Given the description of an element on the screen output the (x, y) to click on. 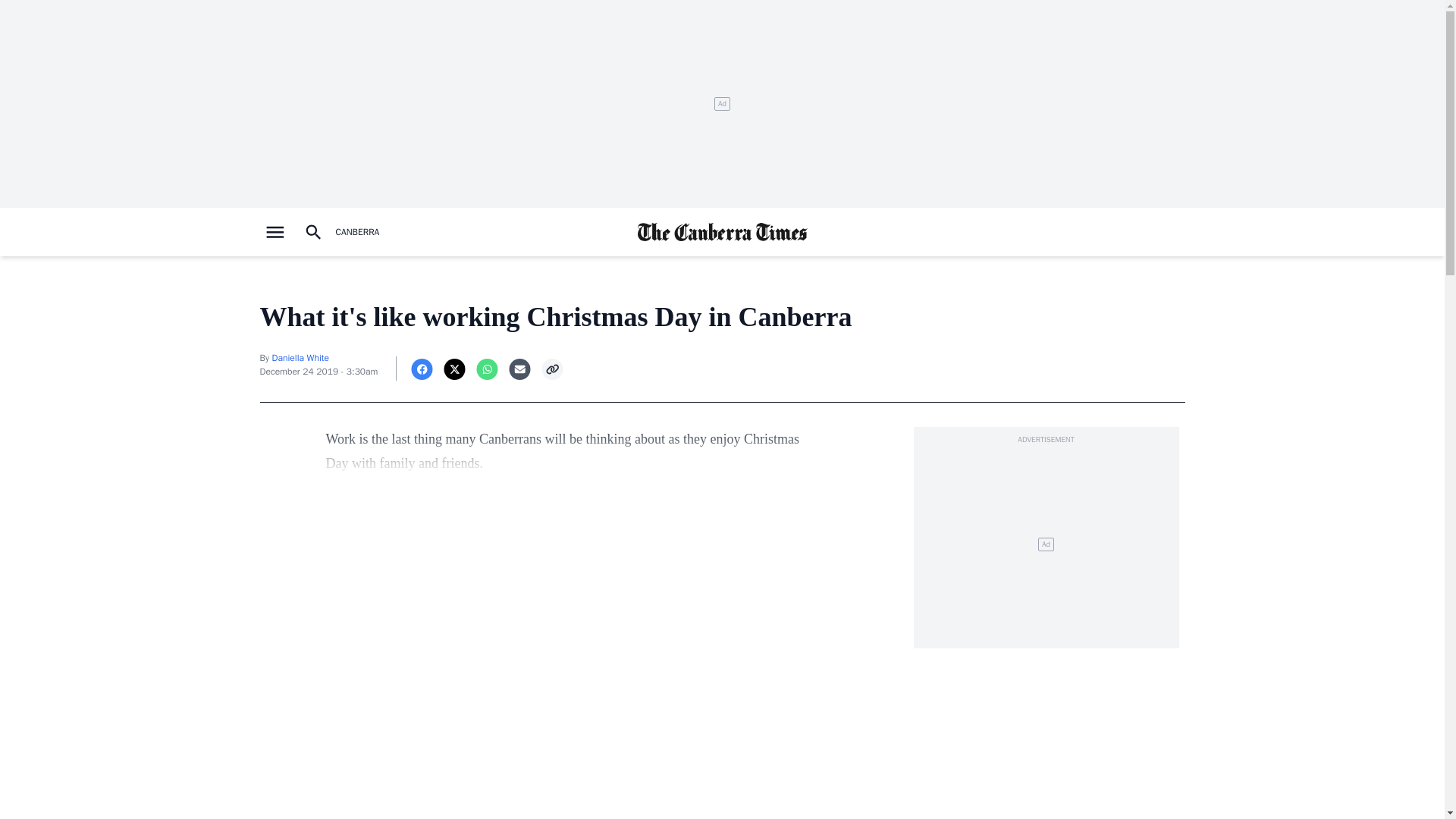
CANBERRA (357, 232)
